Given the description of an element on the screen output the (x, y) to click on. 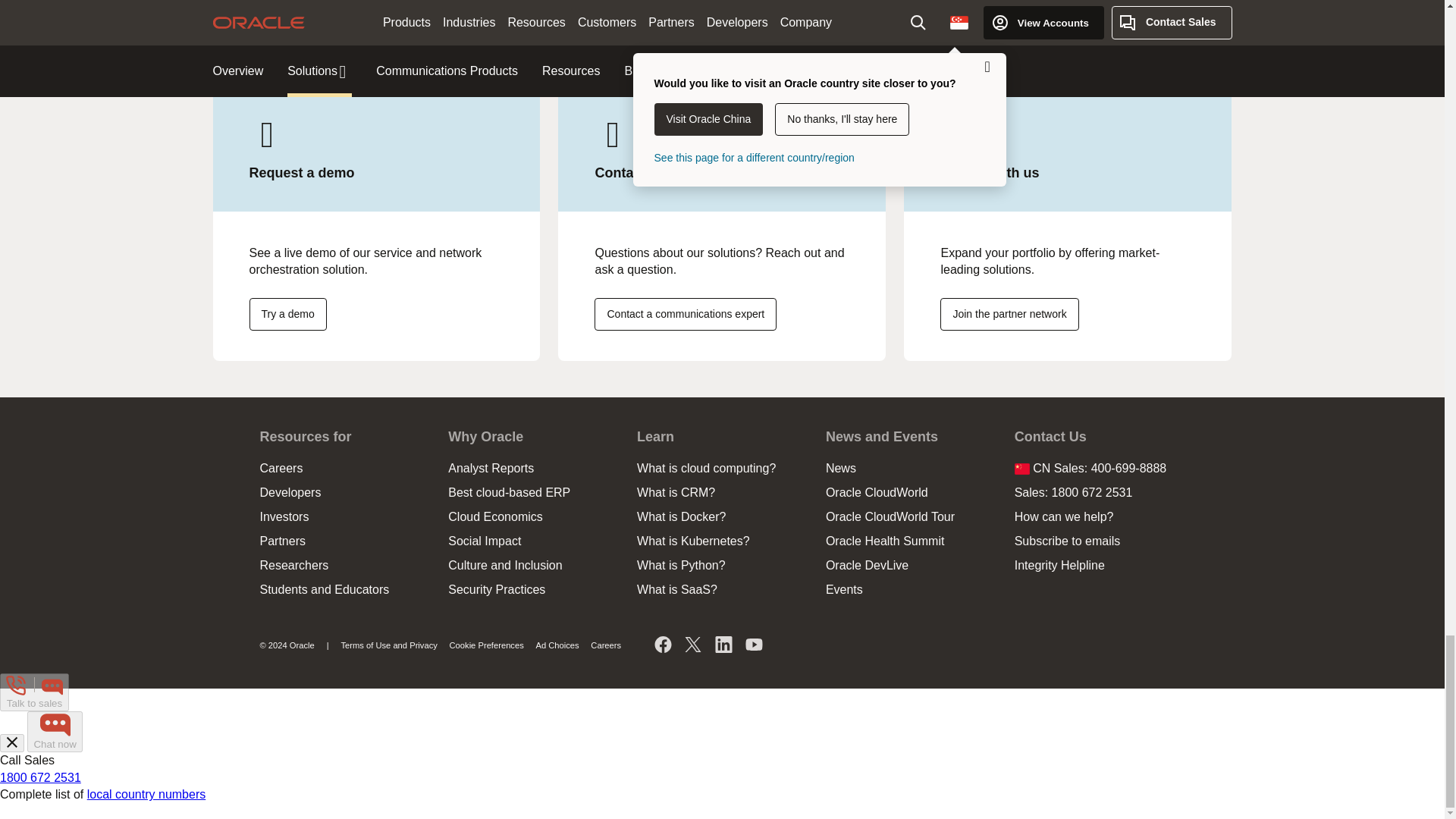
Request a demo (287, 314)
Request a demo (685, 314)
